Given the description of an element on the screen output the (x, y) to click on. 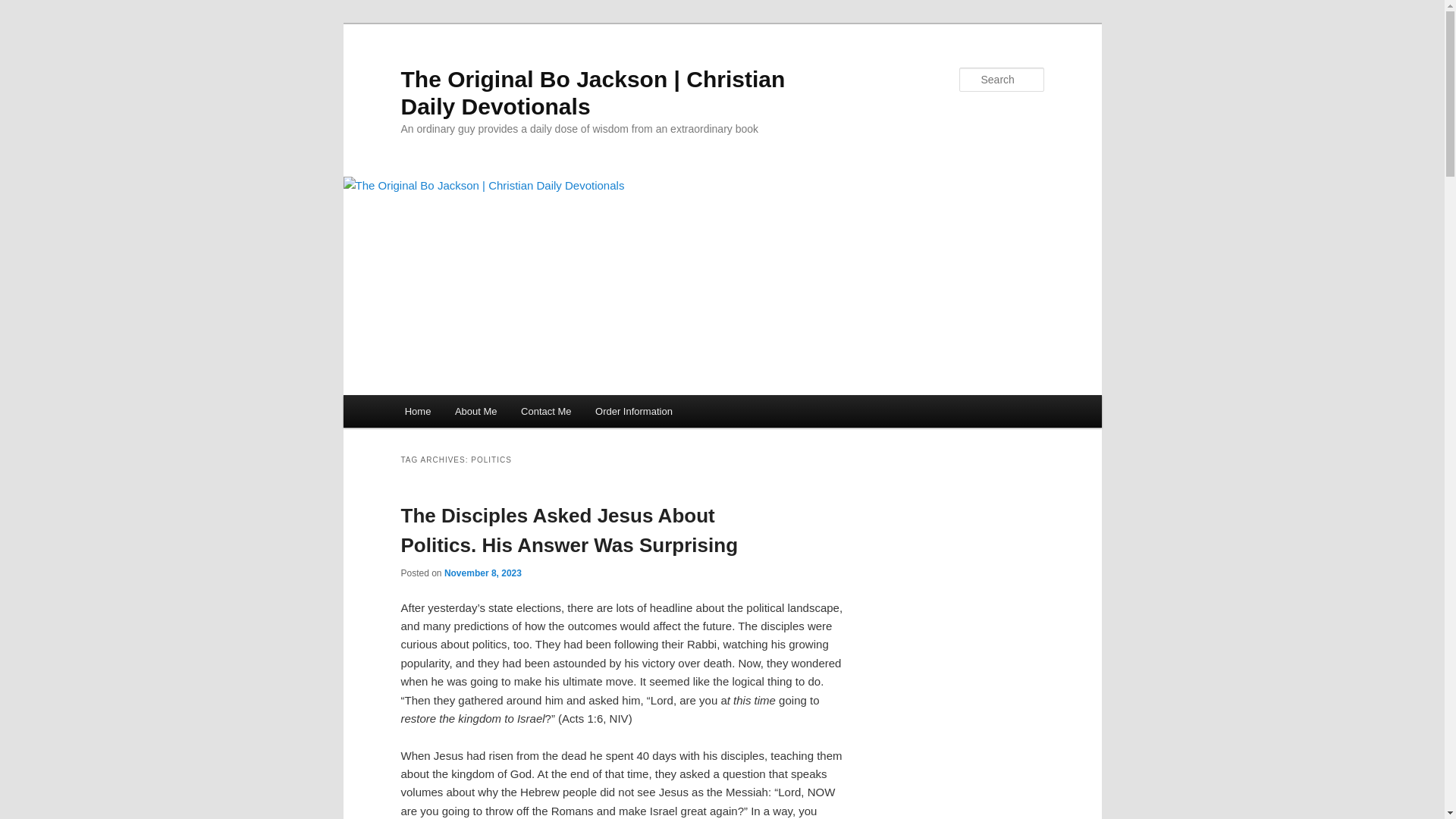
About Me (475, 410)
Search (21, 11)
Order Information (633, 410)
November 8, 2023 (482, 573)
6:59 am (482, 573)
Contact Me (545, 410)
Search (24, 8)
Home (417, 410)
